Given the description of an element on the screen output the (x, y) to click on. 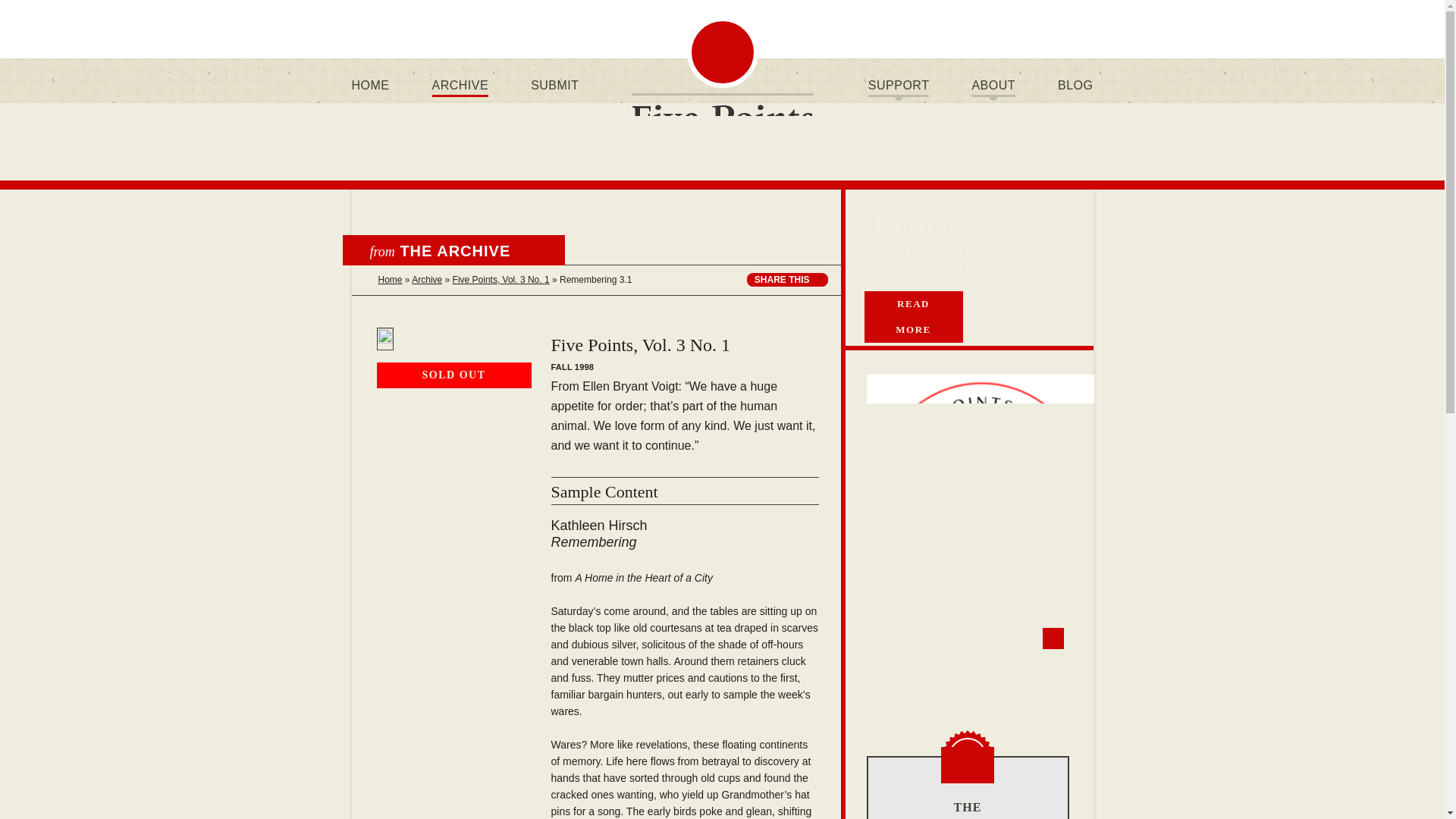
SUBMIT (554, 85)
ARCHIVE (459, 85)
Search (1052, 638)
BLOG (1074, 85)
ABOUT (992, 85)
Search our site... (967, 638)
Home (389, 279)
Archive (427, 279)
HOME (369, 85)
SUPPORT (898, 85)
Five Points, Vol. 3 No. 1 (501, 279)
